Given the description of an element on the screen output the (x, y) to click on. 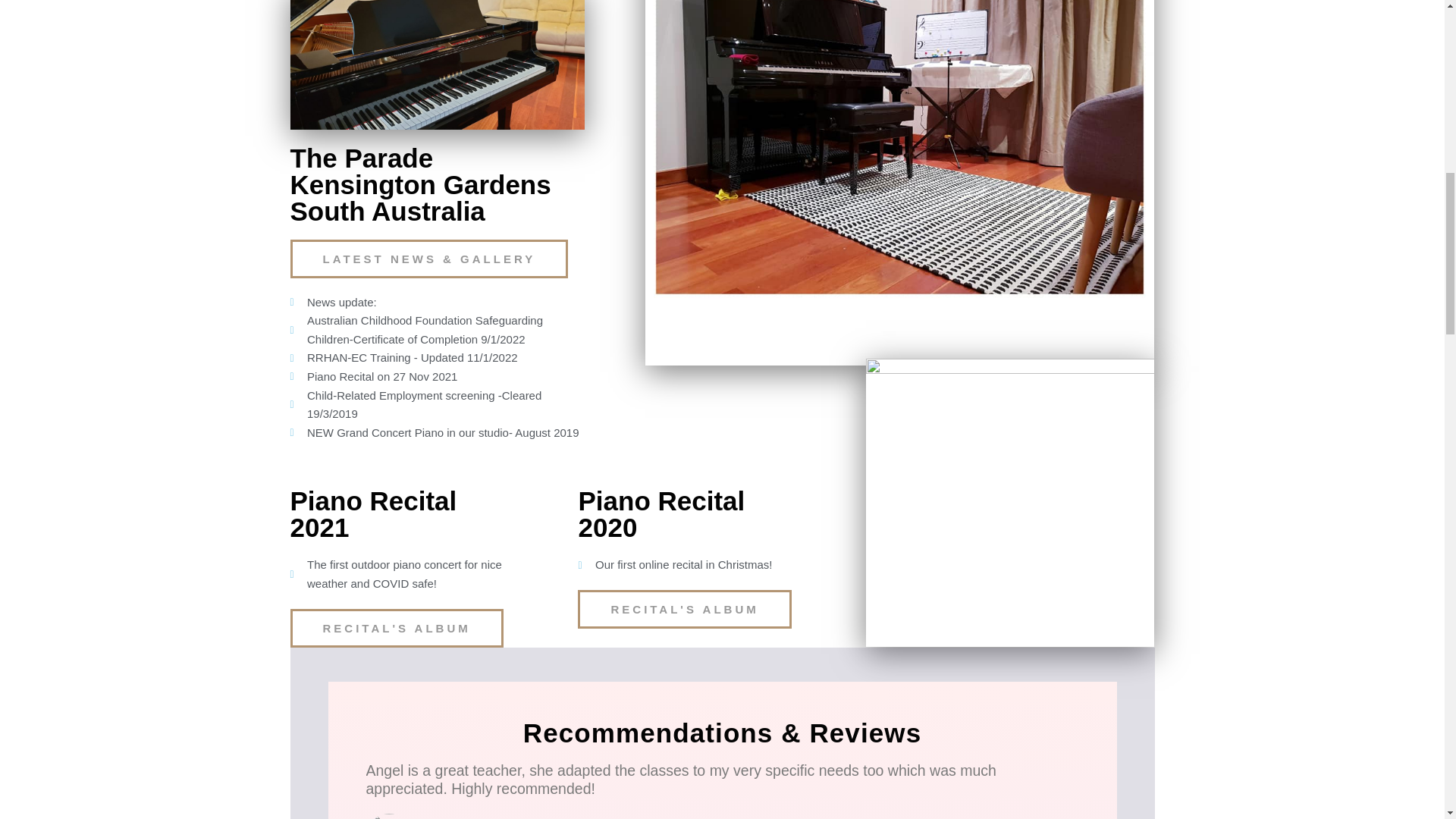
RECITAL'S ALBUM (684, 608)
RECITAL'S ALBUM (395, 627)
